Given the description of an element on the screen output the (x, y) to click on. 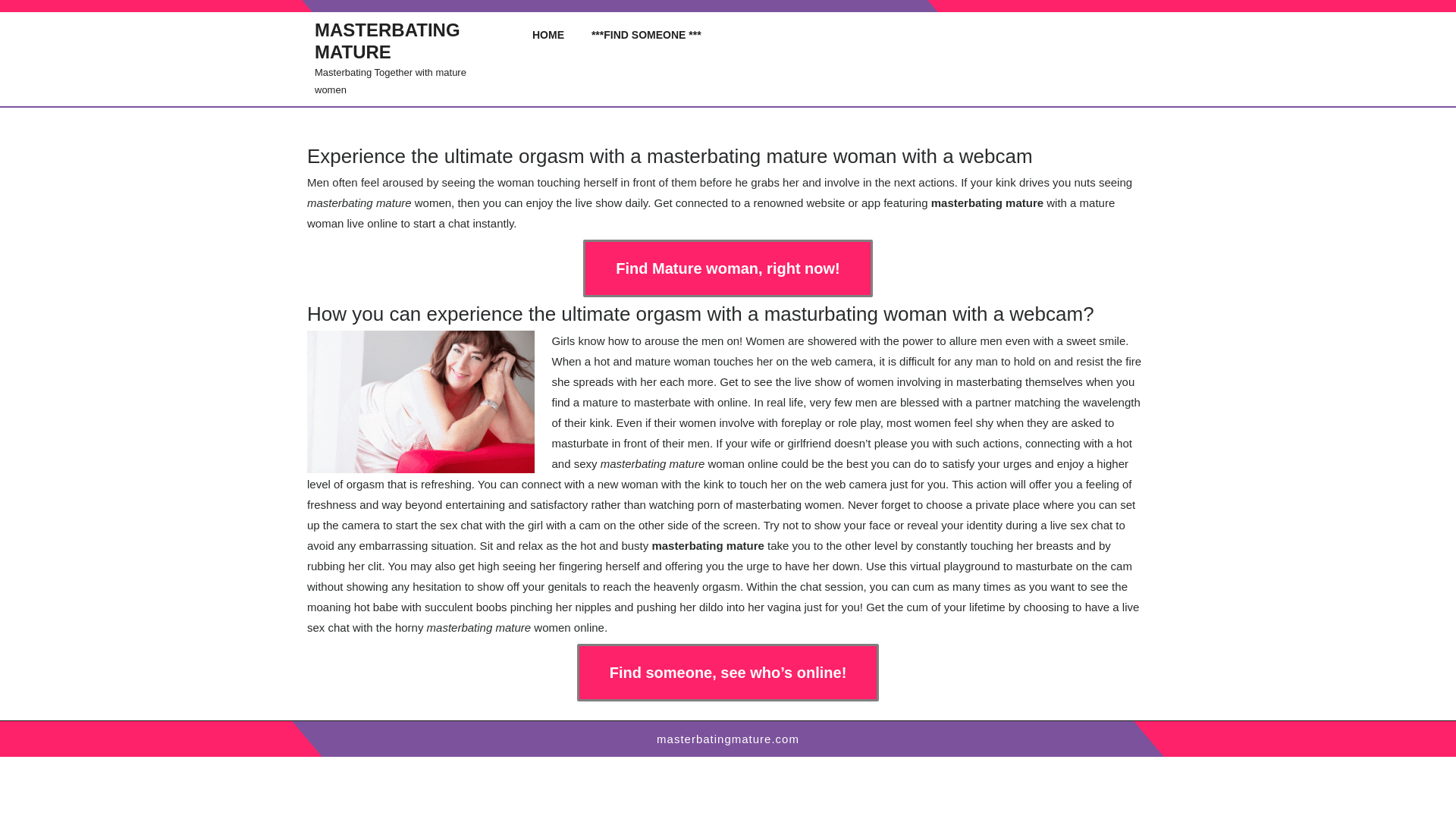
masterbatingmature.com (727, 738)
Find Mature woman, right now! (727, 269)
MASTERBATING MATURE (387, 40)
Find Mature woman, right now! (727, 268)
HOME (550, 35)
